Given the description of an element on the screen output the (x, y) to click on. 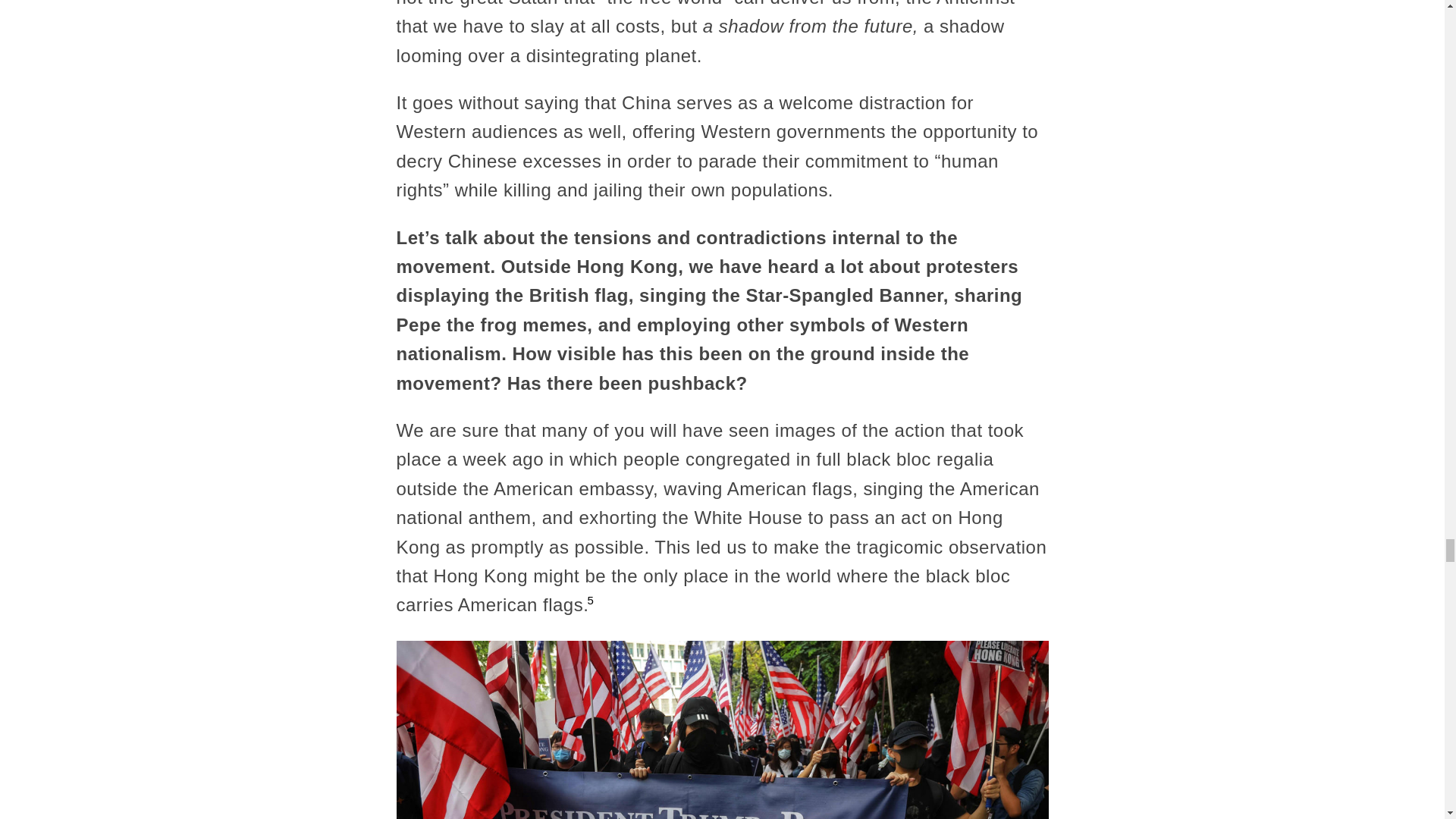
5 (590, 600)
